Given the description of an element on the screen output the (x, y) to click on. 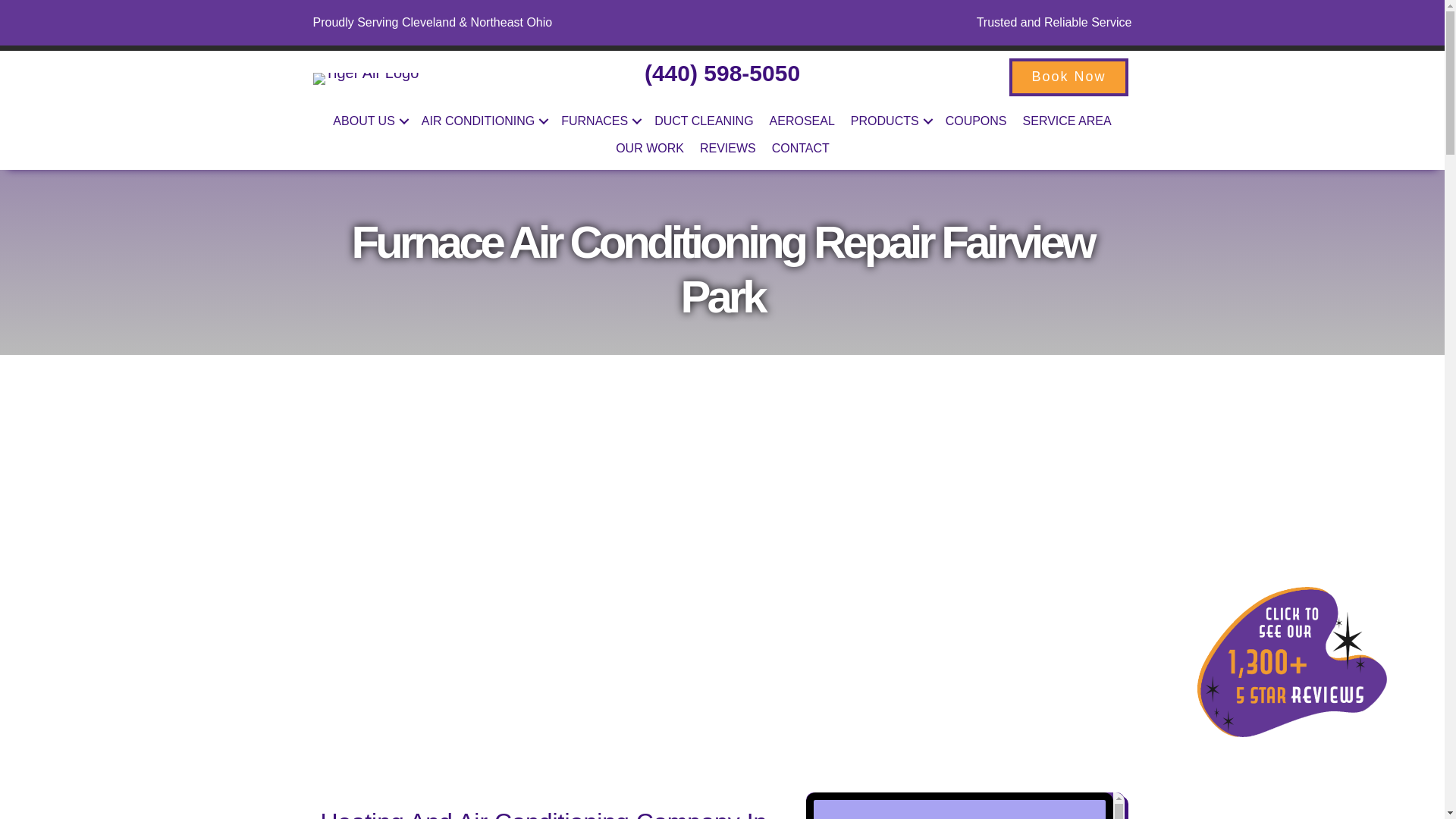
1300 5 star reviews 3 (1291, 662)
Tiger Air Logo (366, 78)
Tiger Air Form (964, 805)
